Given the description of an element on the screen output the (x, y) to click on. 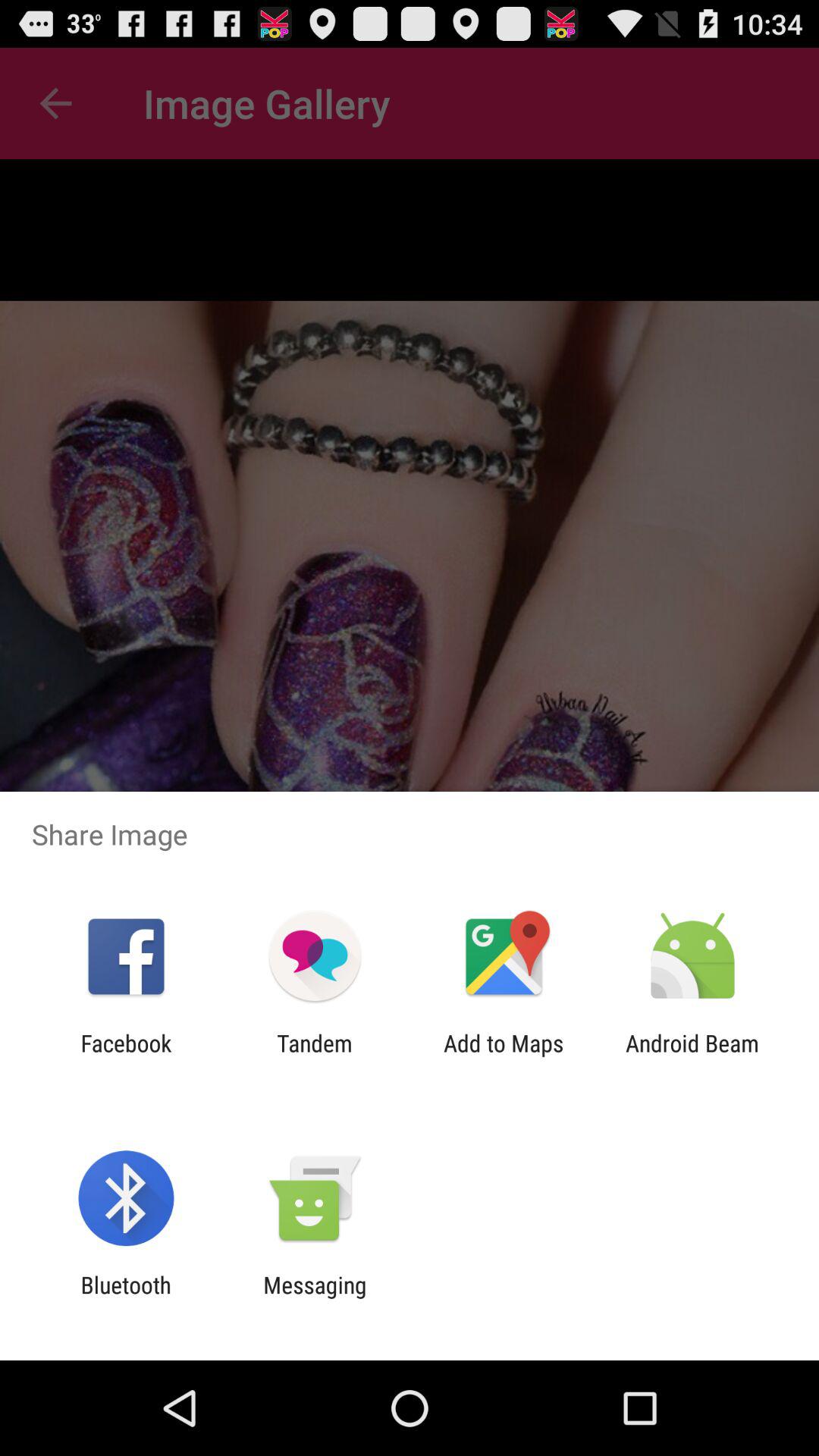
select icon to the right of bluetooth (314, 1298)
